Given the description of an element on the screen output the (x, y) to click on. 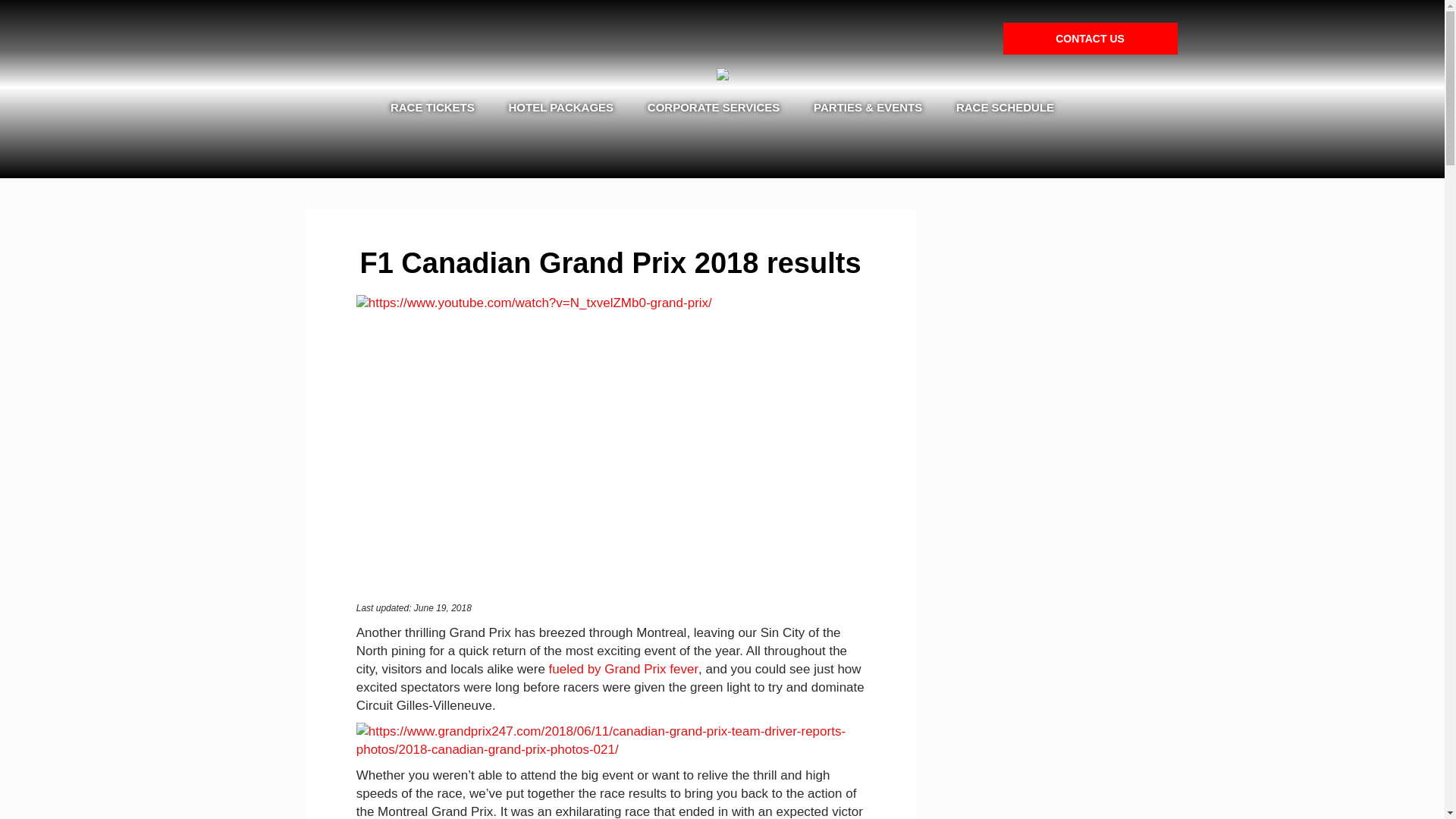
RACE SCHEDULE (1004, 107)
RACE TICKETS (432, 107)
CORPORATE SERVICES (712, 107)
fueled by Grand Prix fever (623, 668)
HOTEL PACKAGES (560, 107)
